Given the description of an element on the screen output the (x, y) to click on. 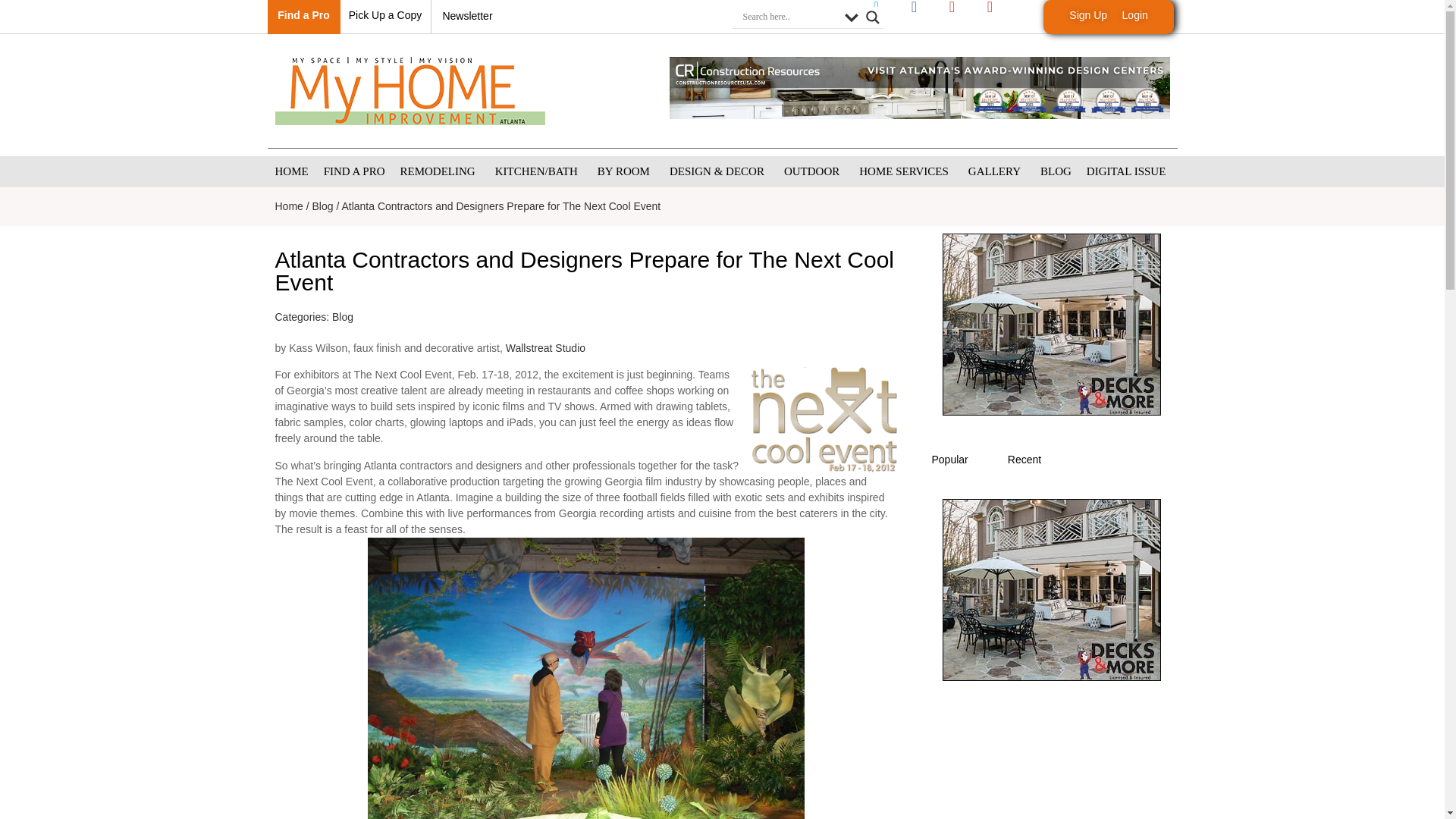
Pick Up a Copy (385, 15)
Login (1135, 15)
Sign Up (1087, 15)
Find a Pro (303, 15)
Avatarmural (584, 678)
Newsletter (467, 15)
